Given the description of an element on the screen output the (x, y) to click on. 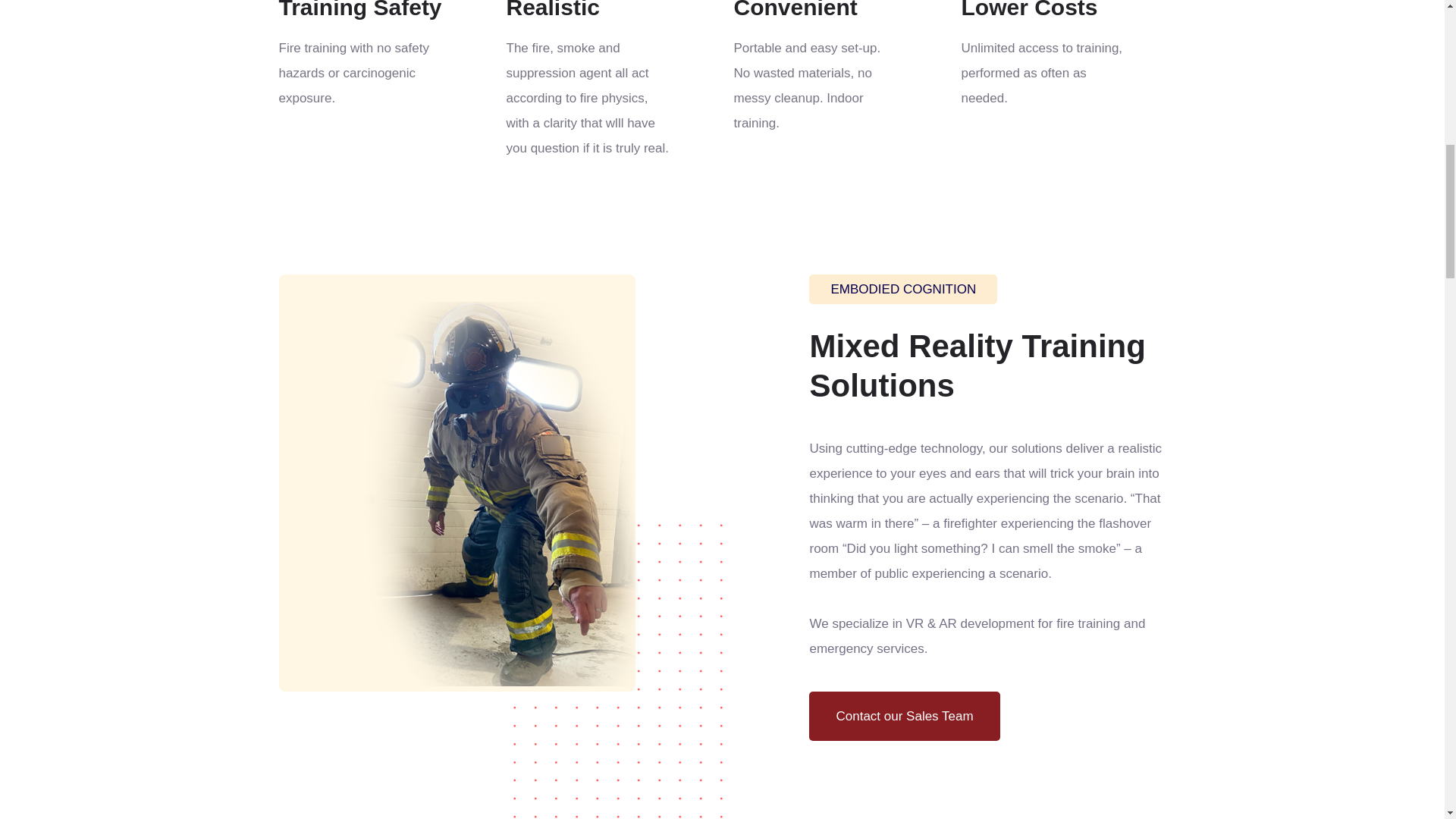
Contact our Sales Team (903, 716)
